Given the description of an element on the screen output the (x, y) to click on. 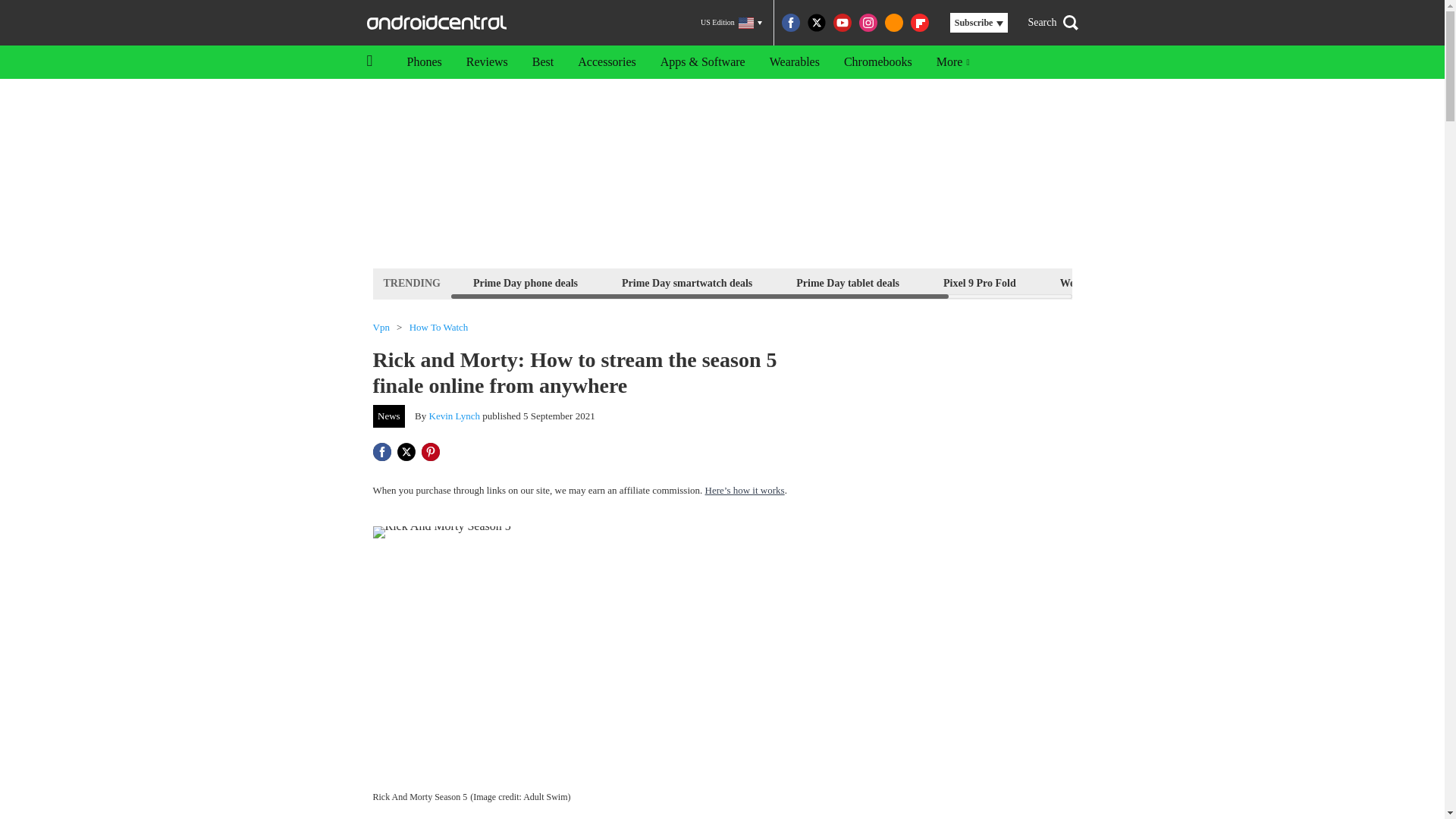
How To Watch (438, 327)
Reviews (486, 61)
Phones (423, 61)
Prime Day tablet deals (847, 282)
Chromebooks (877, 61)
Wear OS 5 (1084, 282)
Best (542, 61)
Prime Day phone deals (525, 282)
Pixel 9 Pro Fold (979, 282)
Vpn (381, 327)
Wearables (794, 61)
News (389, 415)
US Edition (731, 22)
Accessories (606, 61)
Kevin Lynch (454, 415)
